Given the description of an element on the screen output the (x, y) to click on. 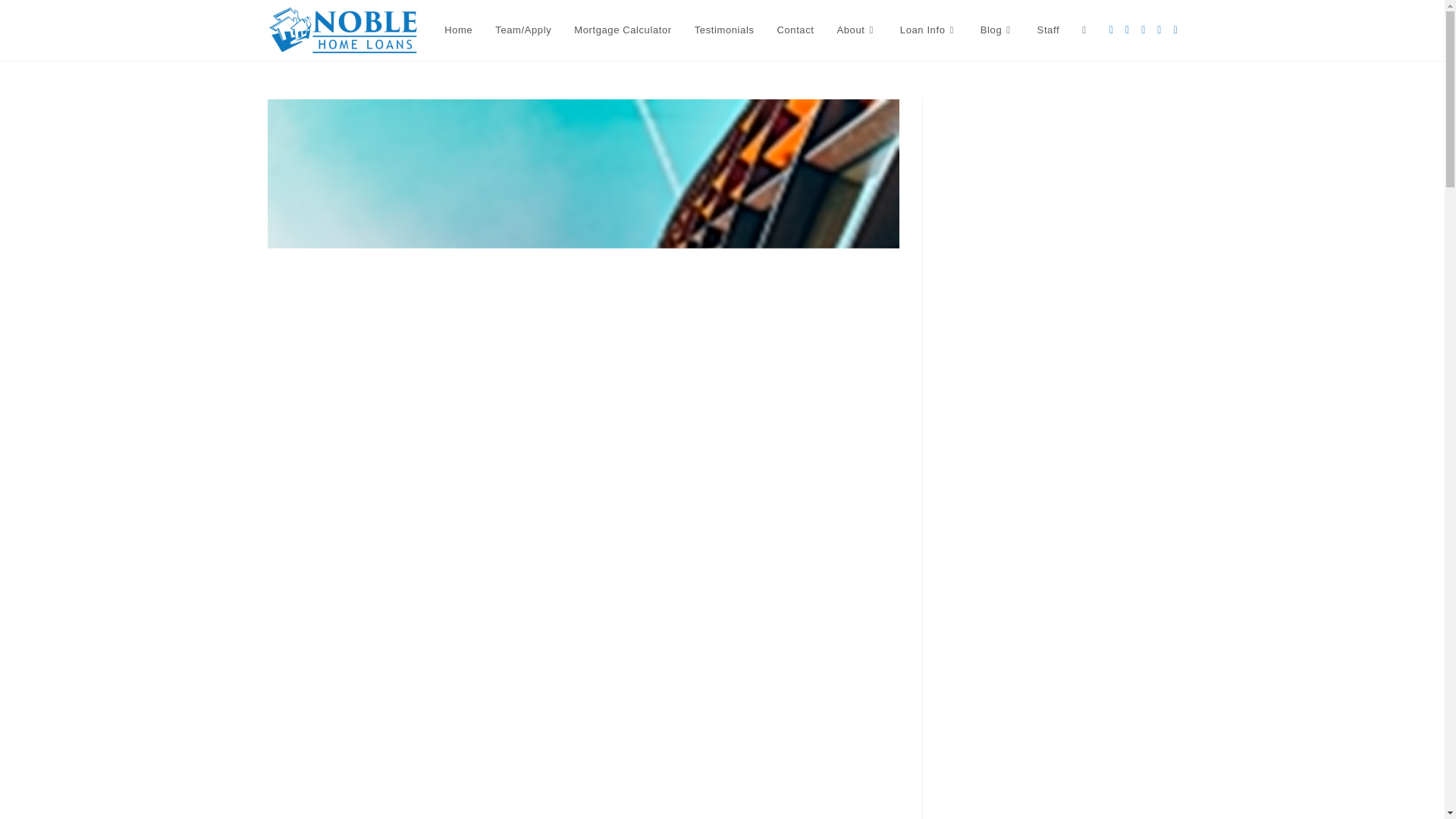
Contact (795, 30)
Loan Info (928, 30)
Testimonials (723, 30)
Home (457, 30)
Mortgage Calculator (622, 30)
About (856, 30)
Blog (997, 30)
